Given the description of an element on the screen output the (x, y) to click on. 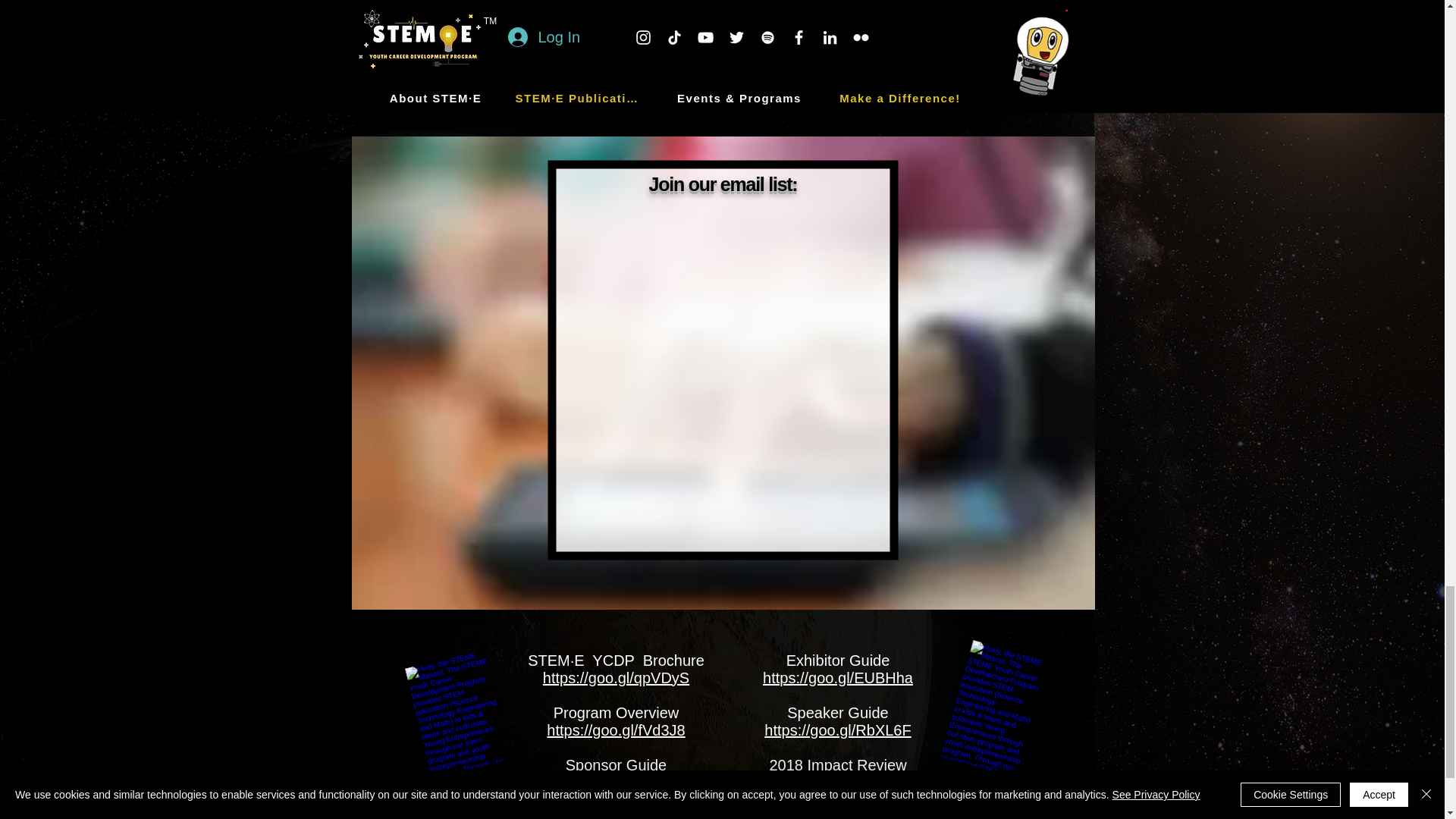
Huey, the STEME Mascot (445, 705)
Huey, the STEME Mascot (980, 700)
